Given the description of an element on the screen output the (x, y) to click on. 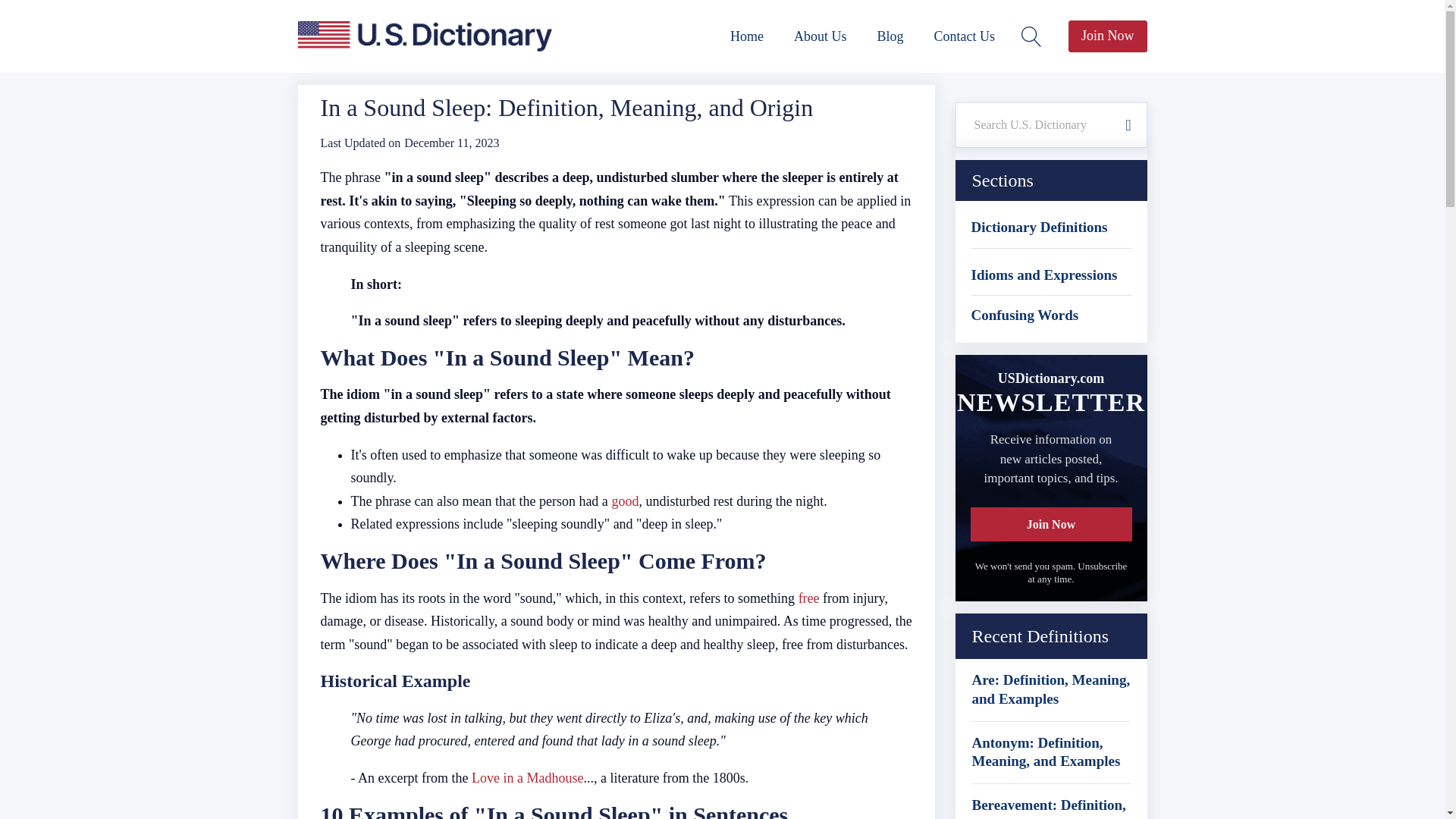
good (625, 500)
Home (746, 35)
Contact Us (964, 35)
Join Now (1107, 35)
Blog (889, 35)
free (808, 597)
Love in a Madhouse (527, 777)
About Us (819, 35)
